Given the description of an element on the screen output the (x, y) to click on. 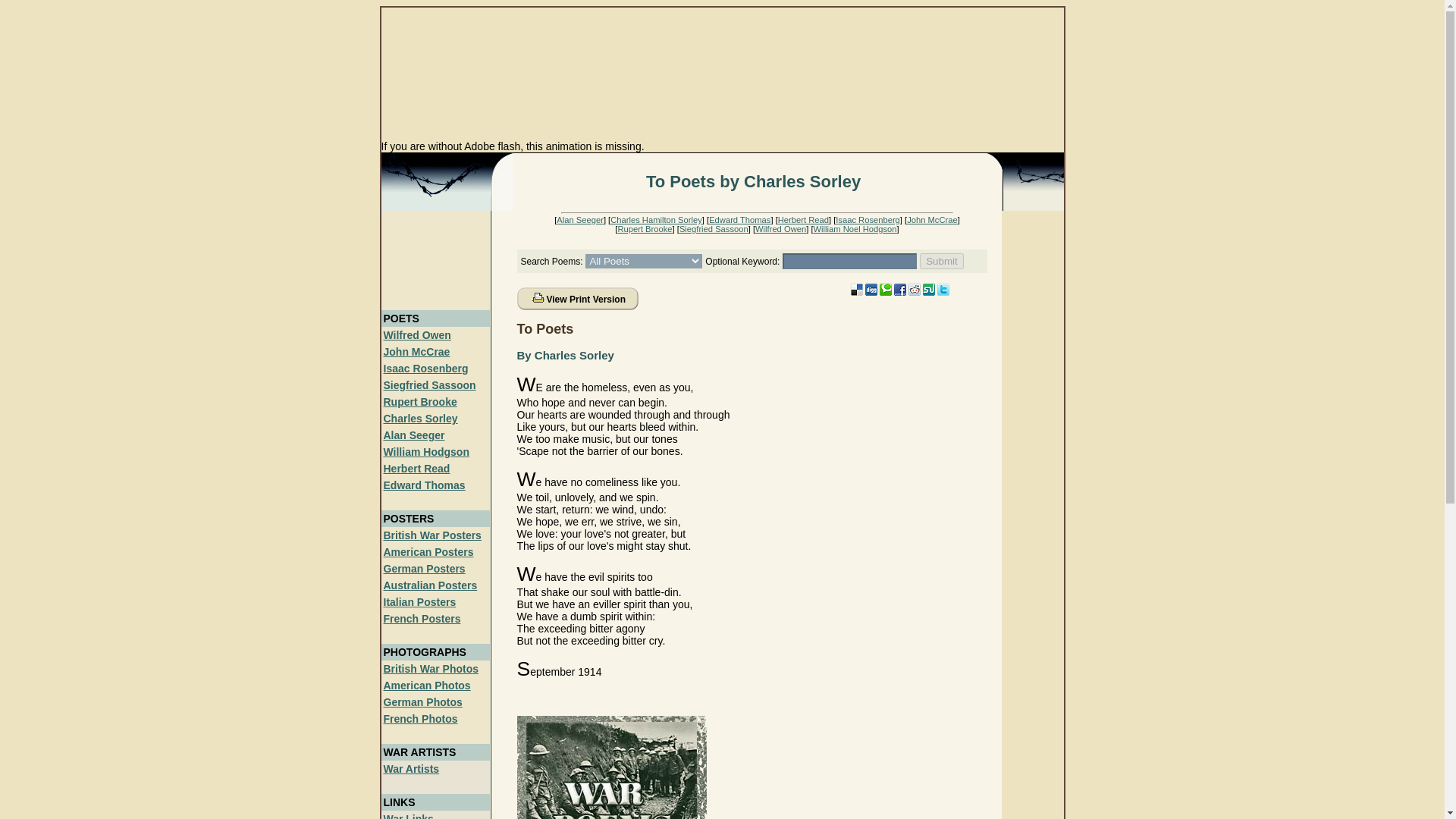
William Noel Hodgson (854, 228)
Australian Posters (430, 585)
Herbert Read (802, 219)
Submit (941, 261)
Alan Seeger (414, 435)
Italian Posters (420, 602)
Rupert Brooke (644, 228)
Isaac Rosenberg (867, 219)
John McCrae (416, 351)
Advertisement (431, 259)
